Given the description of an element on the screen output the (x, y) to click on. 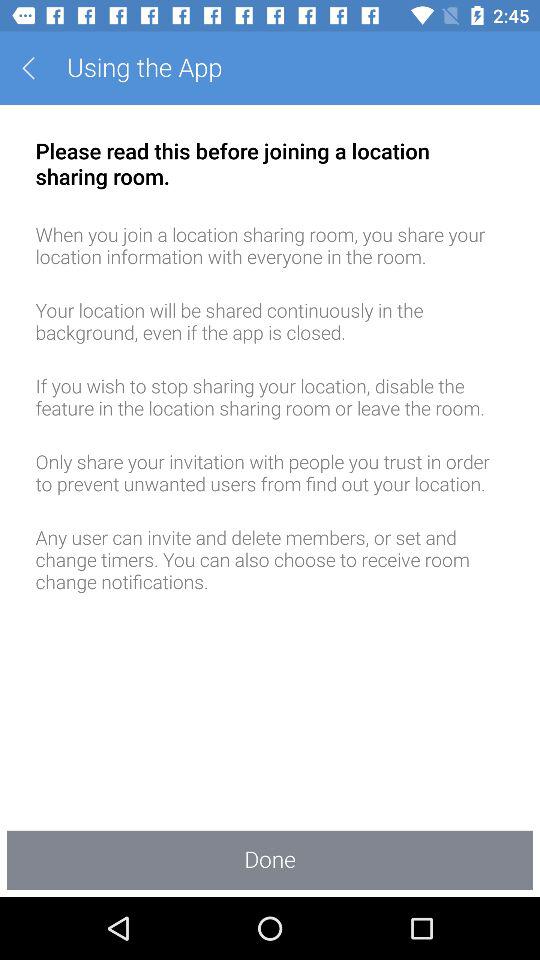
go back option (35, 67)
